Given the description of an element on the screen output the (x, y) to click on. 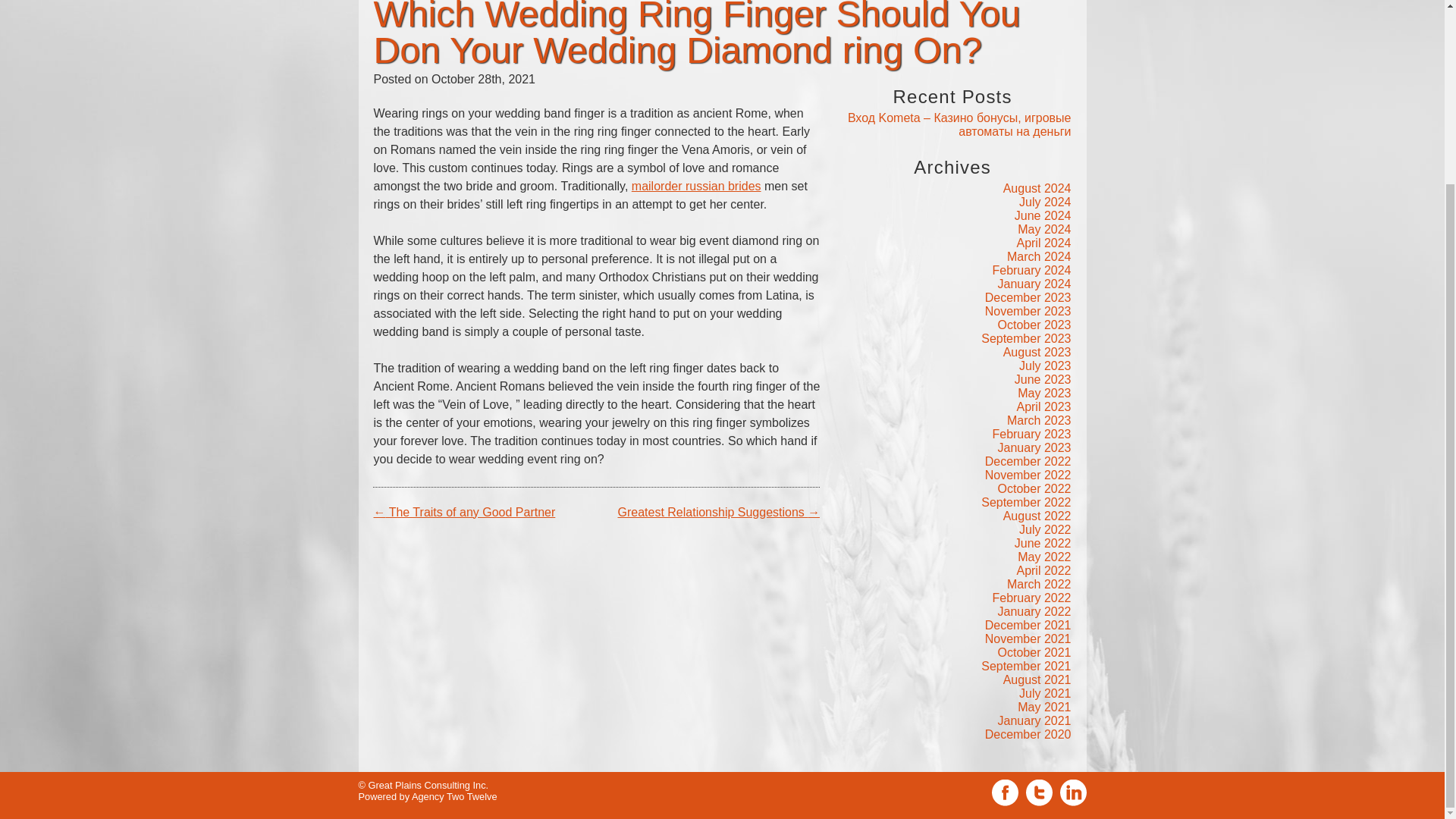
November 2023 (1028, 310)
July 2023 (1045, 365)
May 2024 (1043, 228)
September 2023 (1025, 338)
March 2024 (1039, 256)
mailorder russian brides (696, 185)
May 2023 (1043, 392)
April 2024 (1043, 242)
Great Plains Consulting on LinkedIn (1072, 565)
June 2024 (1042, 215)
